Given the description of an element on the screen output the (x, y) to click on. 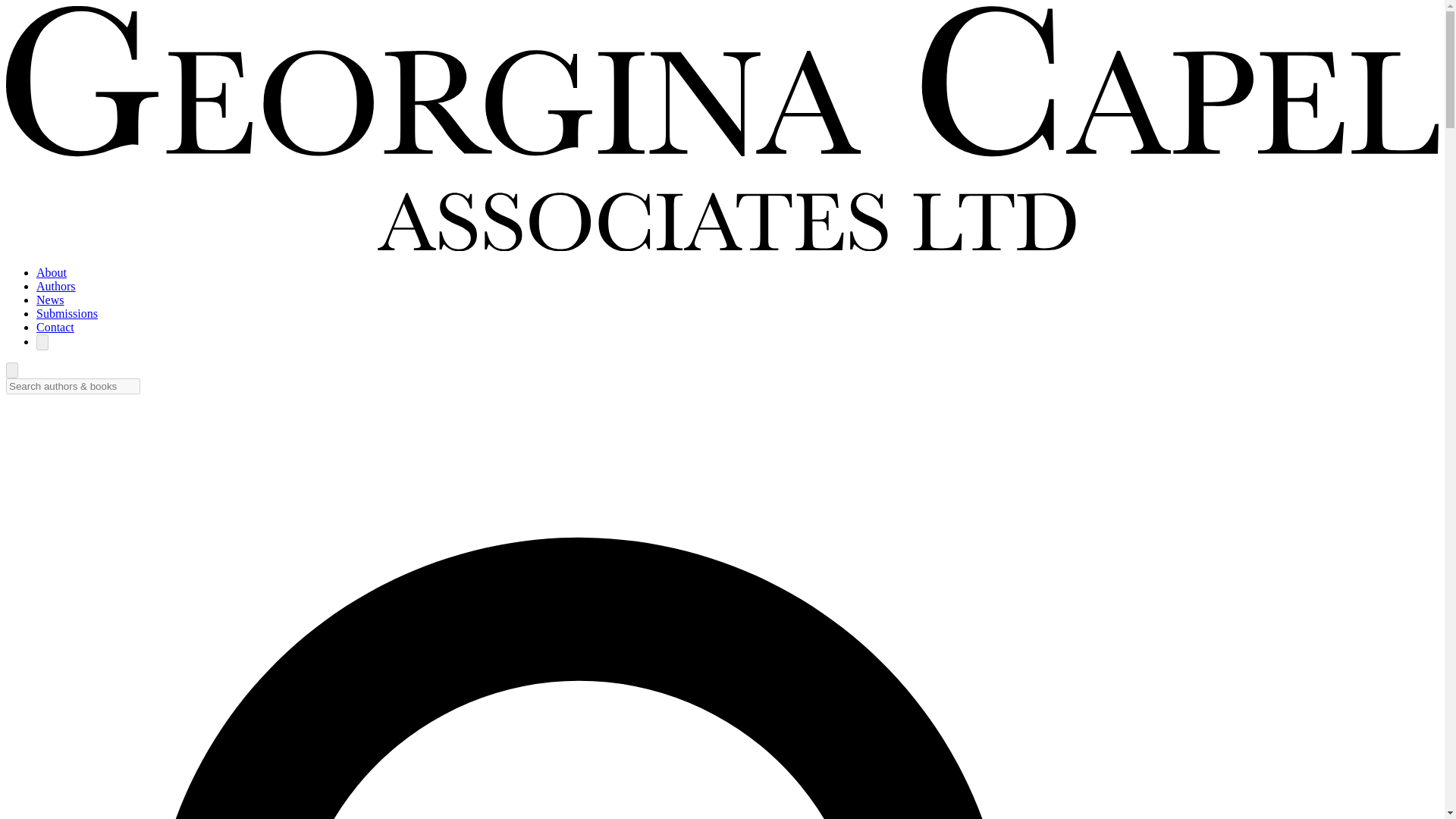
About (51, 272)
Submissions (66, 313)
News (50, 299)
Authors (55, 286)
Contact (55, 327)
